Given the description of an element on the screen output the (x, y) to click on. 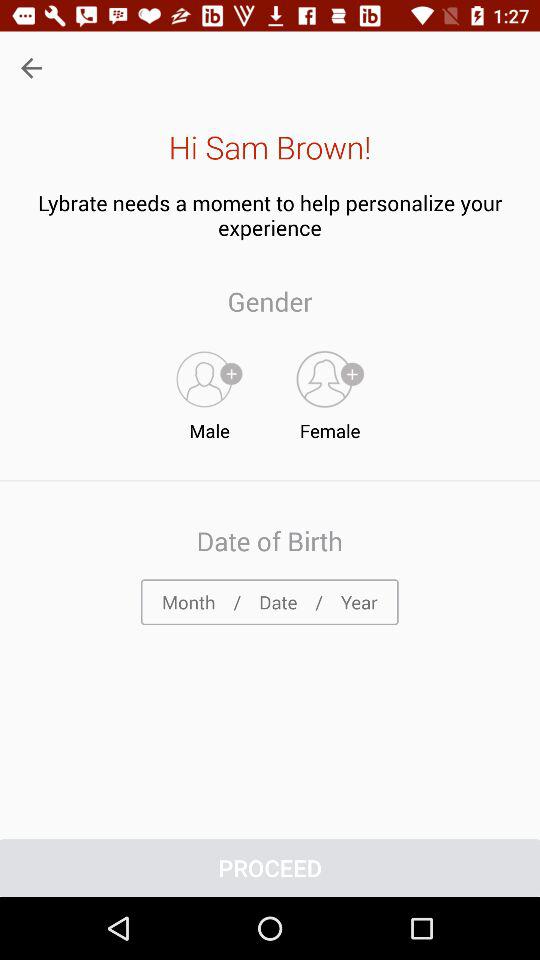
turn on proceed (270, 867)
